Given the description of an element on the screen output the (x, y) to click on. 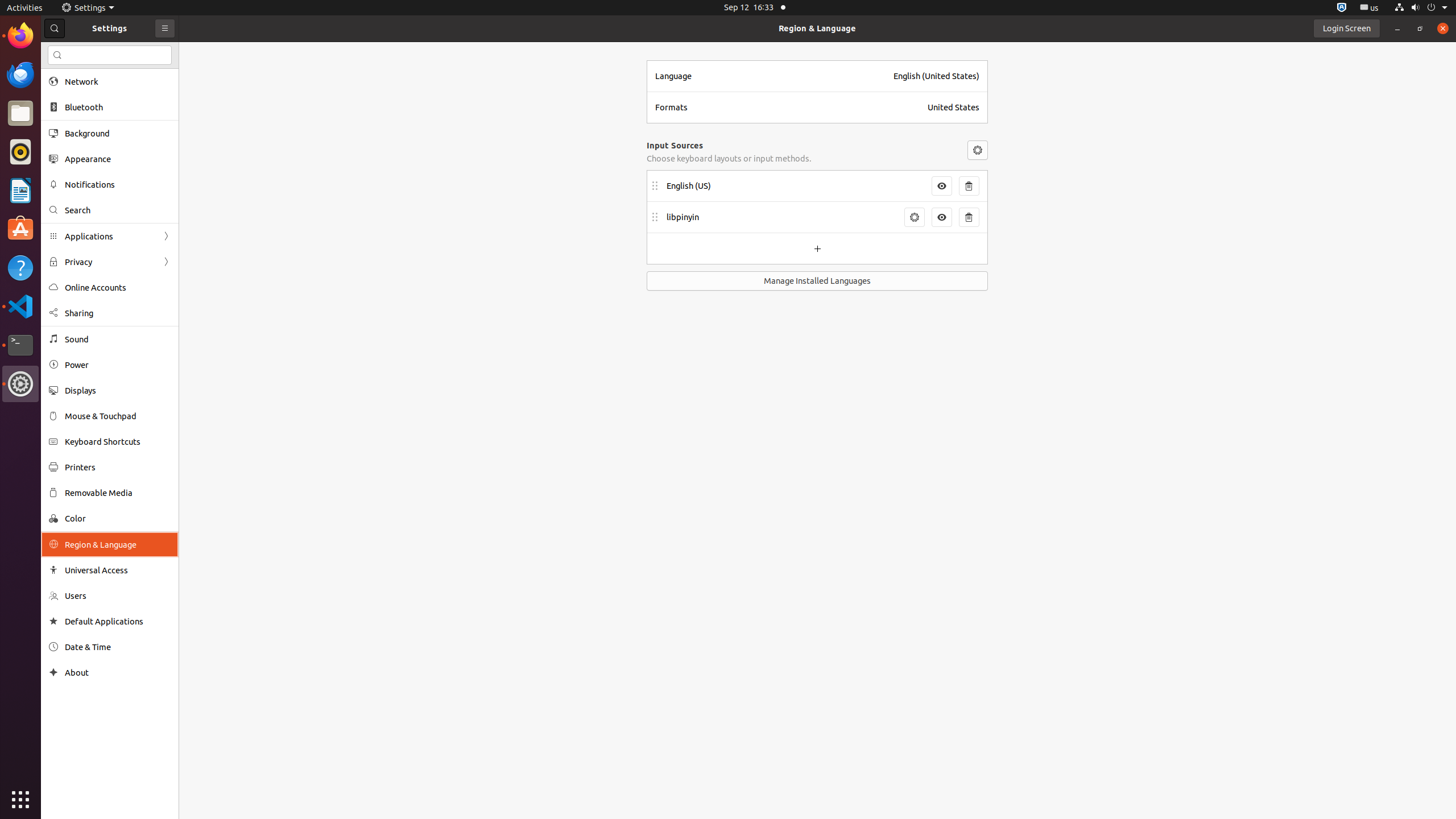
luyi1 Element type: label (75, 50)
IsaHelpMain.desktop Element type: label (75, 170)
Bluetooth Element type: label (117, 107)
Default Applications Element type: label (117, 621)
Appearance Element type: label (117, 158)
